Given the description of an element on the screen output the (x, y) to click on. 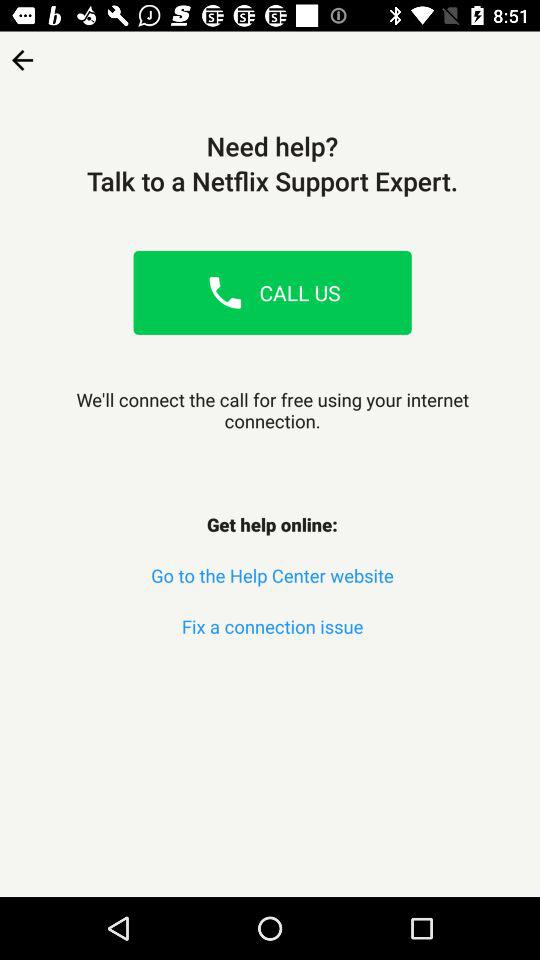
click to call us (225, 292)
